Given the description of an element on the screen output the (x, y) to click on. 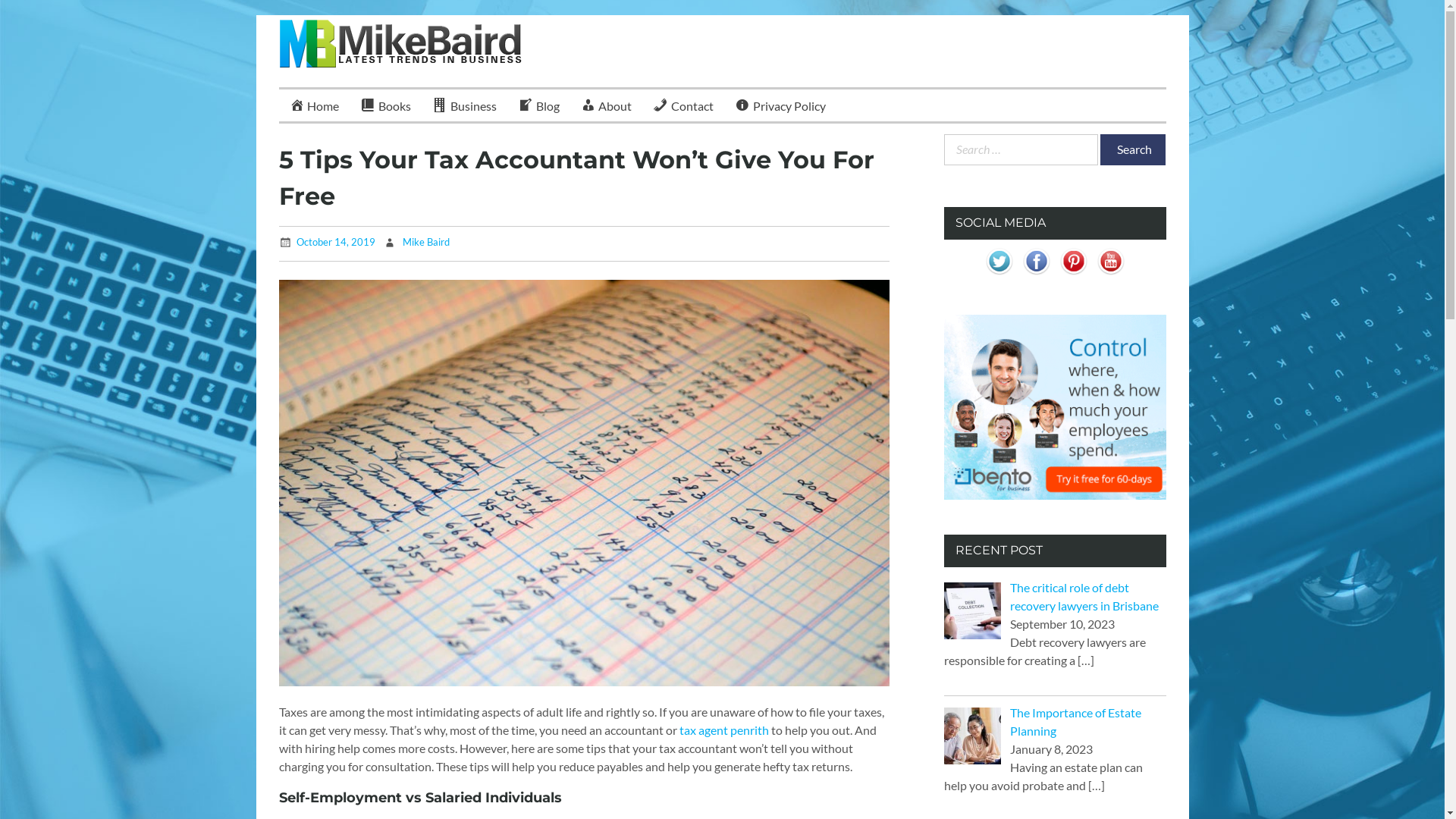
Visit Us On Youtube Element type: hover (1110, 274)
Visit Us On Pinterest Element type: hover (1073, 274)
Contact Element type: text (683, 105)
Search Element type: text (1131, 149)
Mike Baird Element type: text (356, 100)
Business Element type: text (464, 105)
Privacy Policy Element type: text (780, 105)
Visit Us On Facebook Element type: hover (1035, 274)
Mike Baird Element type: text (424, 241)
Home Element type: text (314, 105)
October 14, 2019 Element type: text (334, 241)
About Element type: text (606, 105)
The critical role of debt recovery lawyers in Brisbane Element type: text (1084, 596)
The Importance of Estate Planning Element type: text (1075, 721)
Visit Us On Twitter Element type: hover (998, 274)
Blog Element type: text (538, 105)
tax agent penrith Element type: text (723, 729)
Books Element type: text (385, 105)
